Given the description of an element on the screen output the (x, y) to click on. 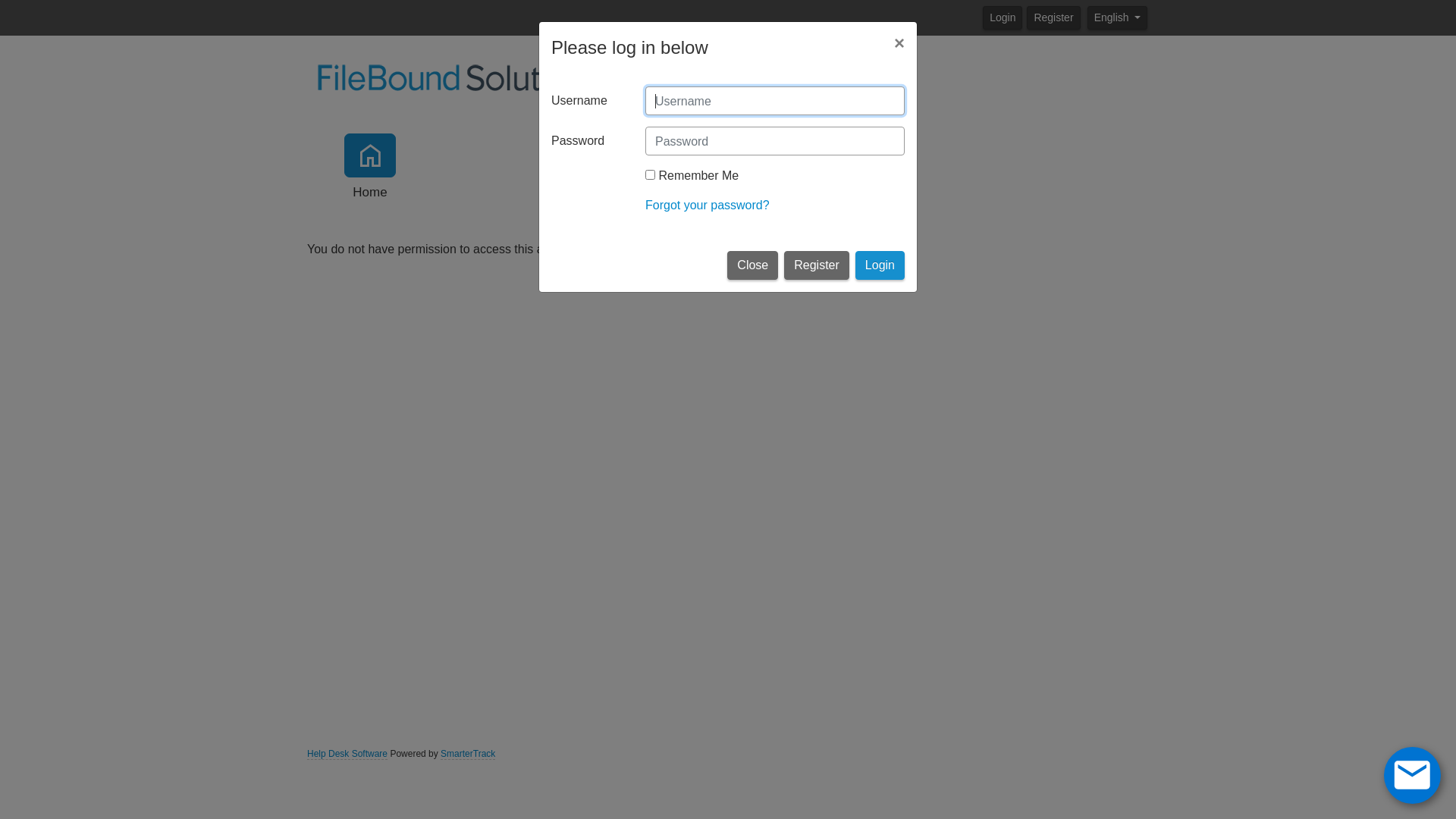
Register Element type: text (1052, 17)
Register Element type: text (816, 265)
Login Element type: text (1002, 17)
FileBound Element type: hover (458, 75)
Login Element type: text (879, 265)
Leave us a message! Element type: hover (1411, 774)
Help Desk Software Element type: text (347, 753)
Home Element type: text (369, 167)
English Element type: text (1117, 17)
SmarterTrack Element type: text (467, 753)
Forgot your password? Element type: text (707, 204)
Close Element type: text (752, 265)
